Given the description of an element on the screen output the (x, y) to click on. 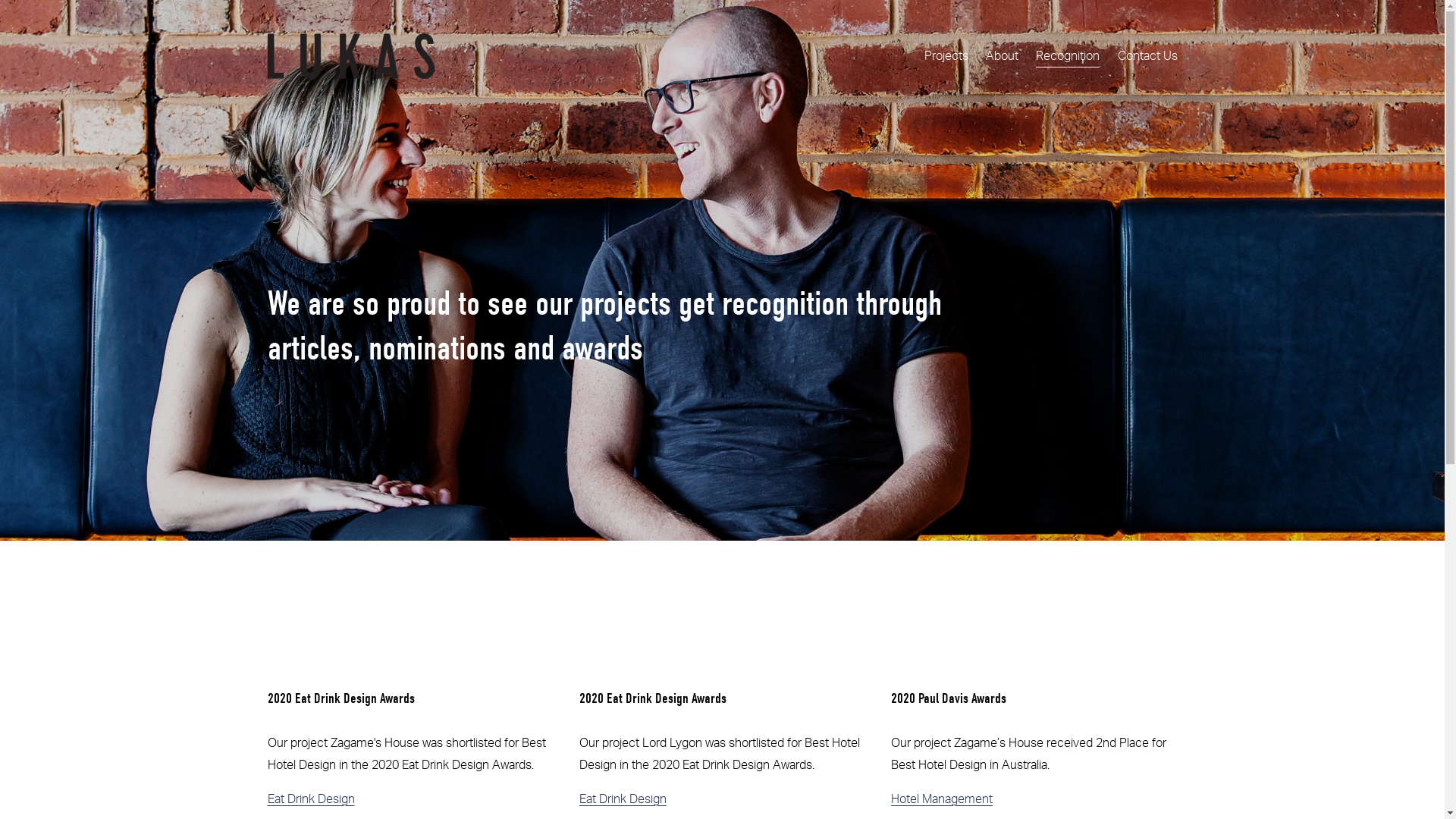
Projects Element type: text (946, 55)
Contact Us Element type: text (1147, 55)
Eat Drink Design Element type: text (310, 799)
Eat Drink Design Element type: text (622, 799)
About Element type: text (1001, 55)
Hotel Management Element type: text (941, 799)
Recognition Element type: text (1067, 55)
